Given the description of an element on the screen output the (x, y) to click on. 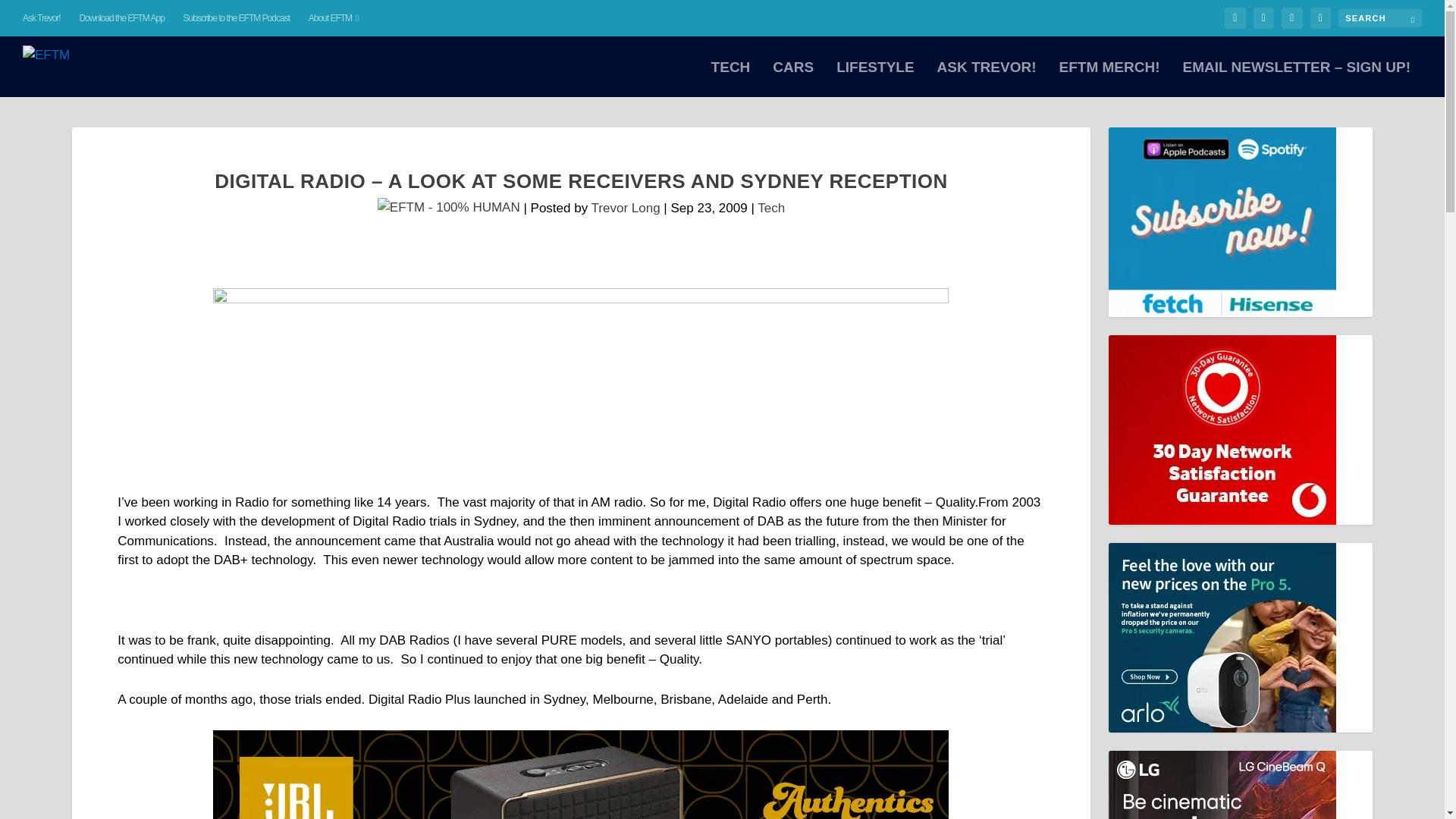
CARS (793, 79)
Download the EFTM App (120, 18)
LIFESTYLE (874, 79)
Subscribe to the EFTM Podcast (236, 18)
TECH (731, 79)
EFTM MERCH! (1108, 79)
Ask Trevor! (42, 18)
Tech (770, 207)
Trevor Long (626, 207)
About EFTM (333, 18)
